Given the description of an element on the screen output the (x, y) to click on. 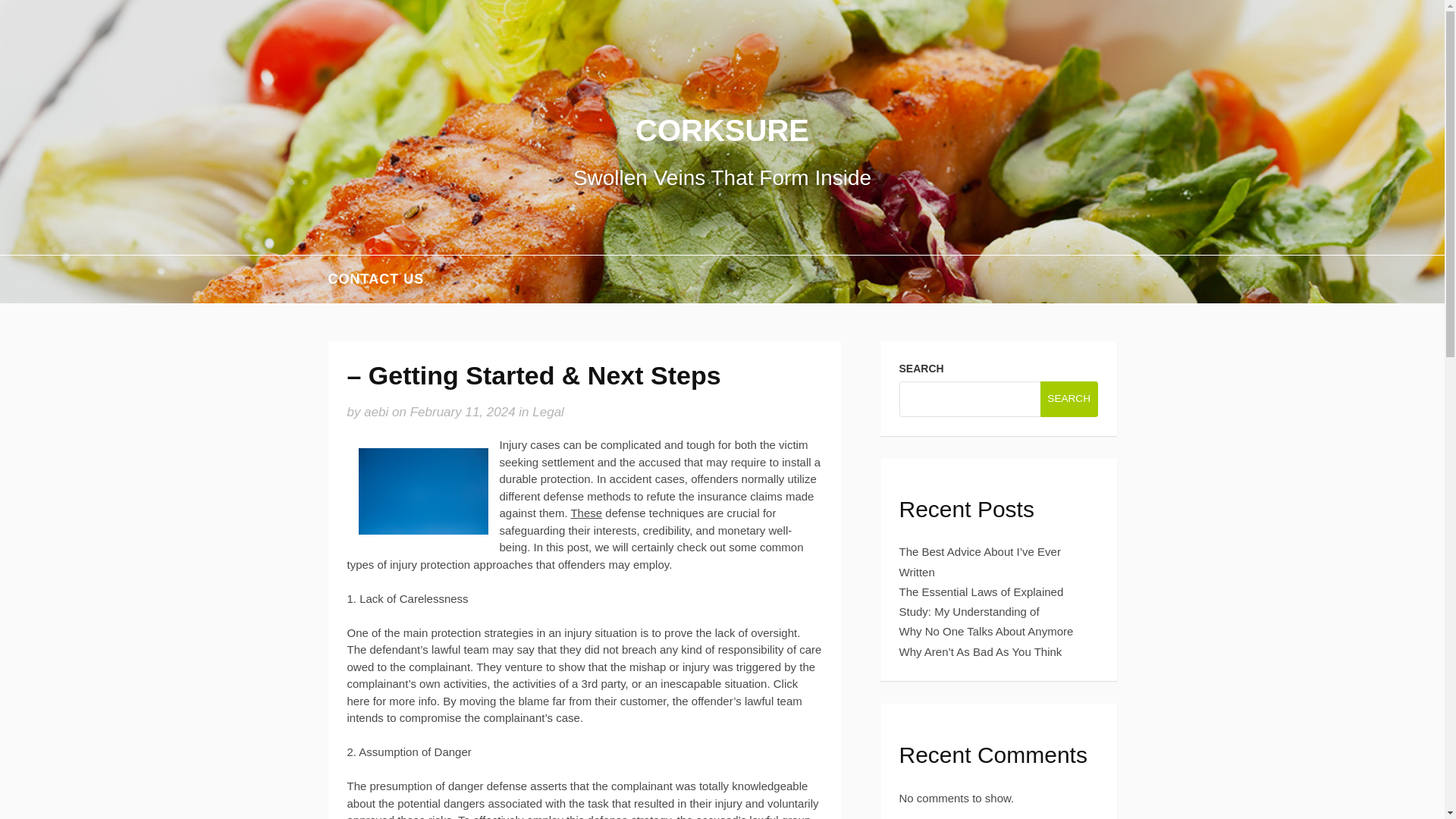
aebi (376, 411)
Legal (548, 411)
CORKSURE (721, 130)
CONTACT US (375, 279)
February 11, 2024 (462, 411)
Why No One Talks About Anymore (986, 631)
These (586, 512)
SEARCH (1069, 398)
The Essential Laws of Explained (981, 591)
Study: My Understanding of (969, 611)
